Given the description of an element on the screen output the (x, y) to click on. 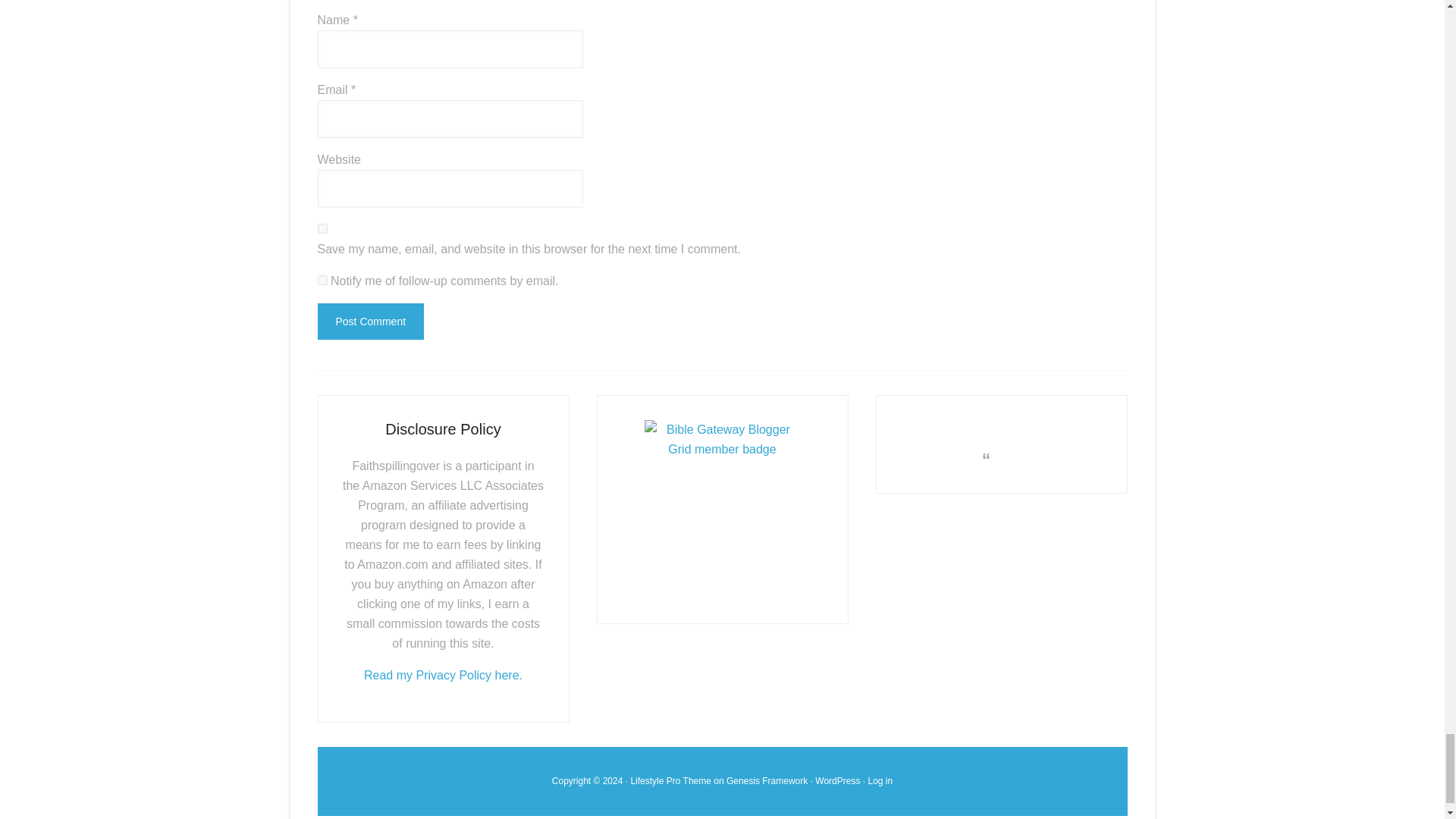
yes (321, 228)
subscribe (321, 280)
Post Comment (370, 321)
